Given the description of an element on the screen output the (x, y) to click on. 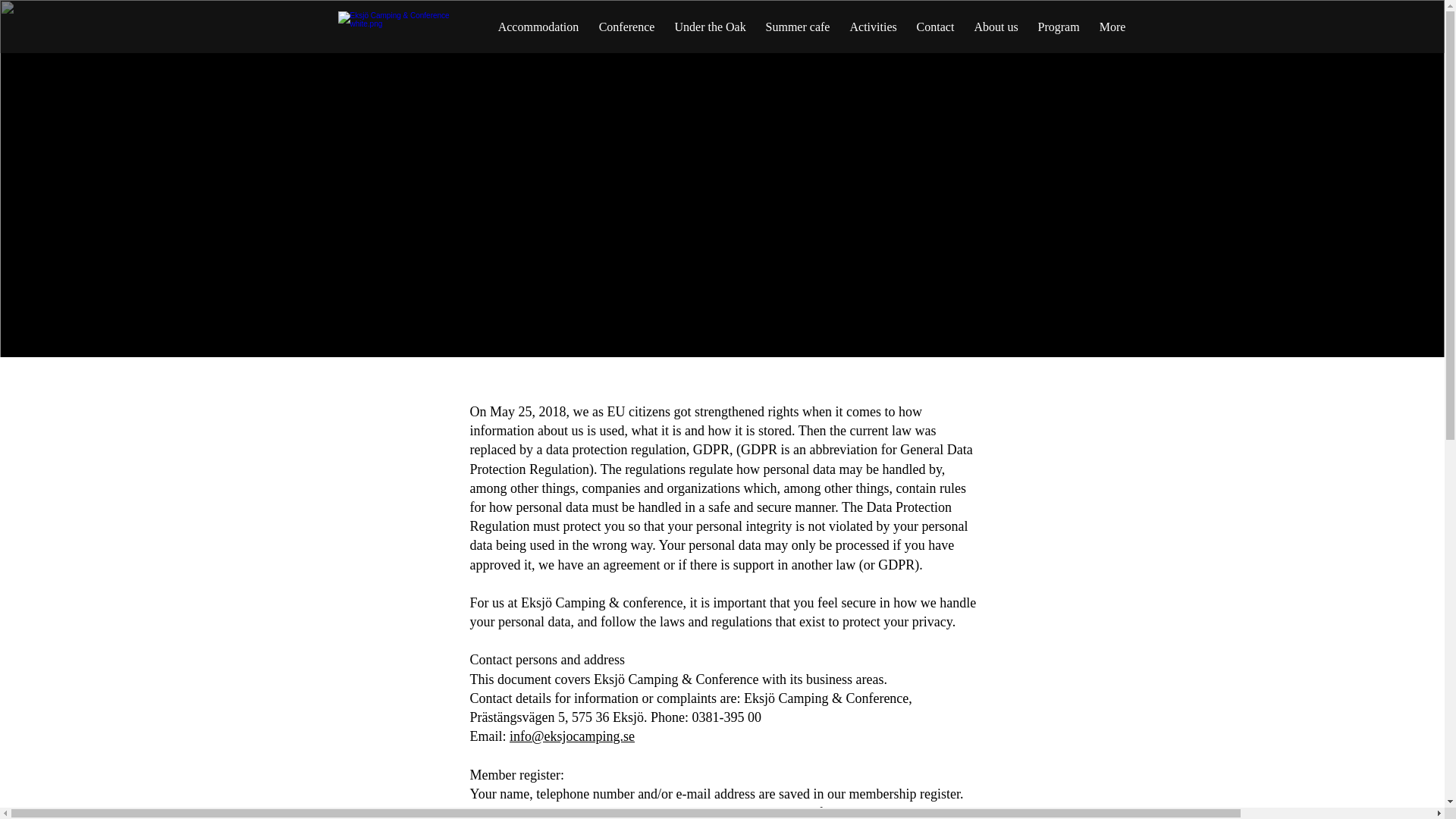
Summer cafe (797, 20)
Contact (935, 20)
Conference (625, 20)
